Given the description of an element on the screen output the (x, y) to click on. 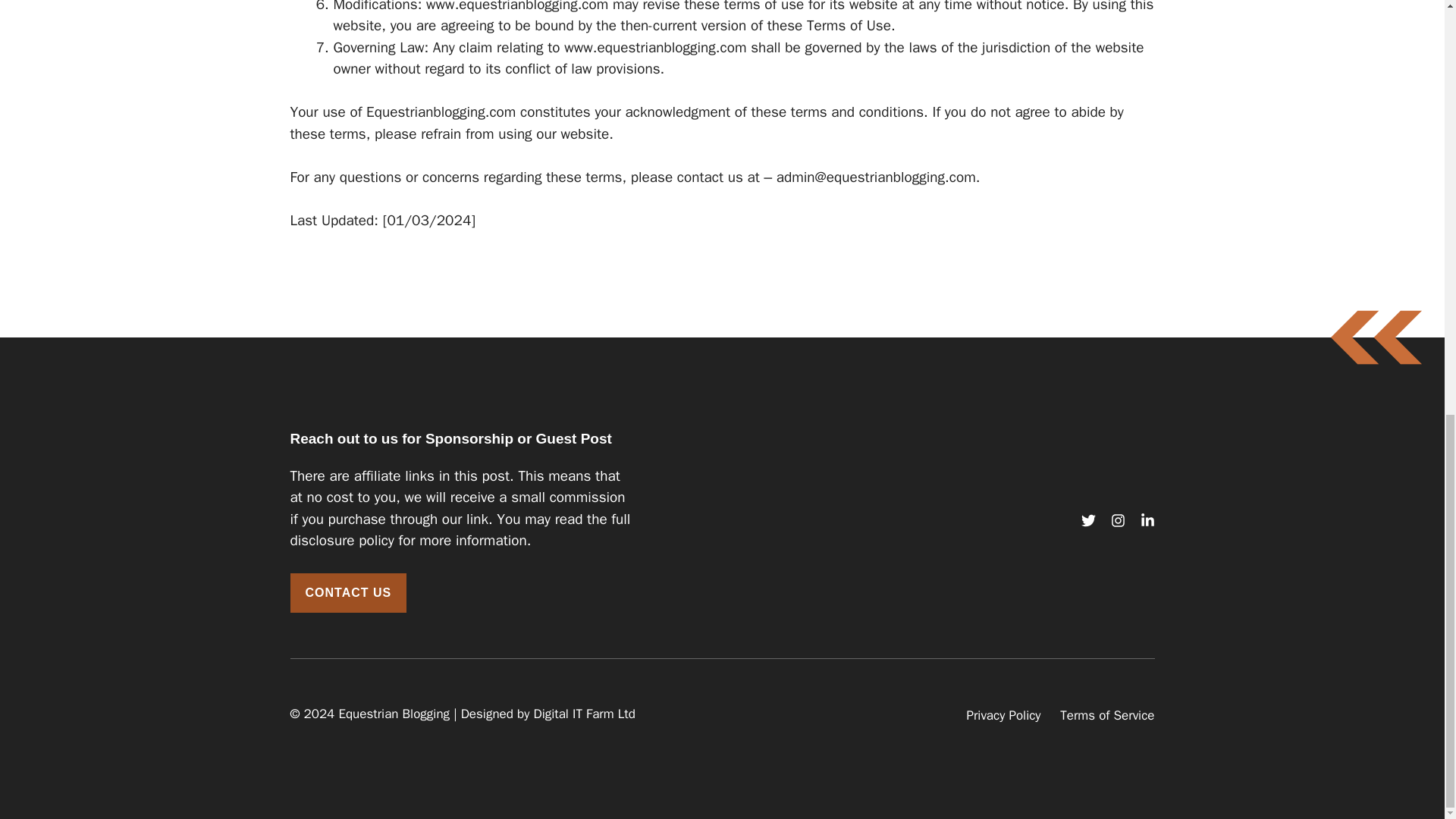
Terms of Service (1106, 715)
Equestrianblogging.com (440, 112)
Privacy Policy (1003, 715)
Digital IT Farm Ltd (583, 713)
www.equestrianblogging.com (654, 47)
CONTACT US (347, 592)
www.equestrianblogging.com (517, 6)
